Given the description of an element on the screen output the (x, y) to click on. 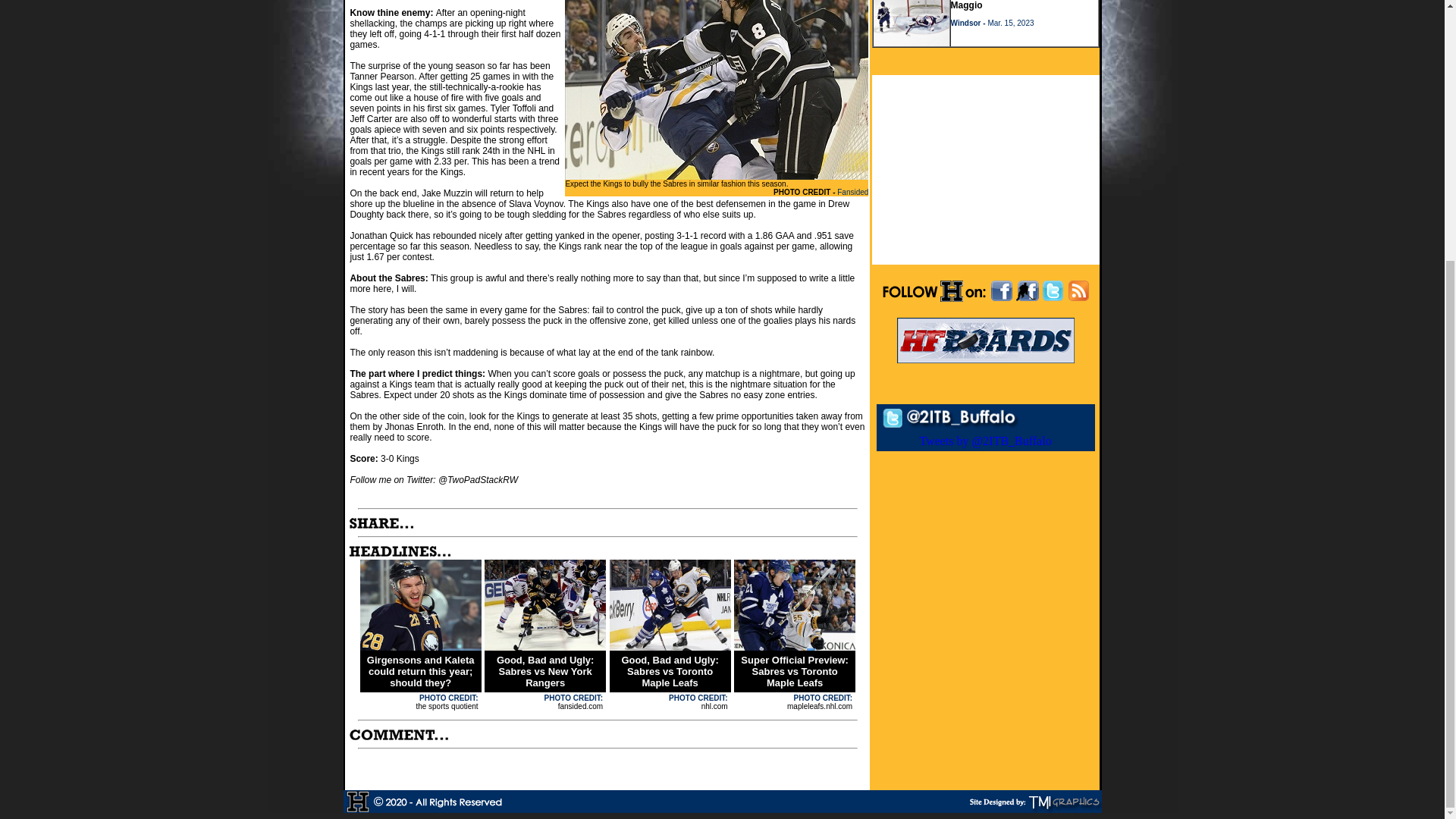
Advertisement (985, 169)
